Given the description of an element on the screen output the (x, y) to click on. 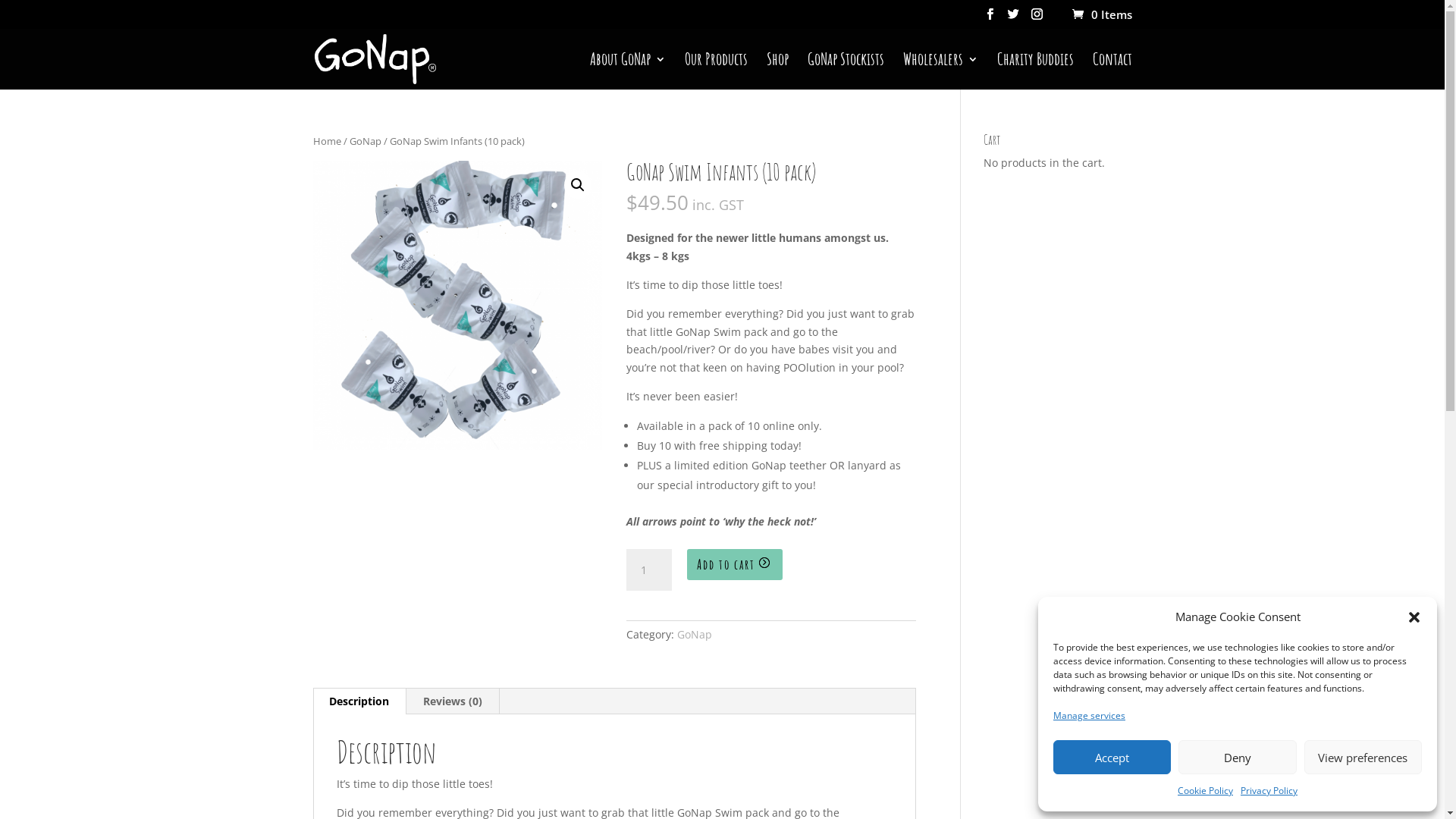
GoNap Element type: text (364, 140)
About GoNap Element type: text (627, 71)
Contact Element type: text (1111, 71)
Charity Buddies Element type: text (1034, 71)
Wholesalers Element type: text (939, 71)
Reviews (0) Element type: text (452, 701)
Shop Element type: text (776, 71)
Manage services Element type: text (1089, 715)
Qty Element type: hover (648, 570)
Add to cart Element type: text (734, 564)
Home Element type: text (326, 140)
Deny Element type: text (1236, 757)
Our Products Element type: text (715, 71)
Description Element type: text (358, 701)
0 Items Element type: text (1100, 13)
GoNap Element type: text (694, 634)
10 Element type: hover (457, 305)
GoNap Stockists Element type: text (844, 71)
Privacy Policy Element type: text (1268, 790)
Accept Element type: text (1111, 757)
View preferences Element type: text (1362, 757)
Cookie Policy Element type: text (1205, 790)
